Given the description of an element on the screen output the (x, y) to click on. 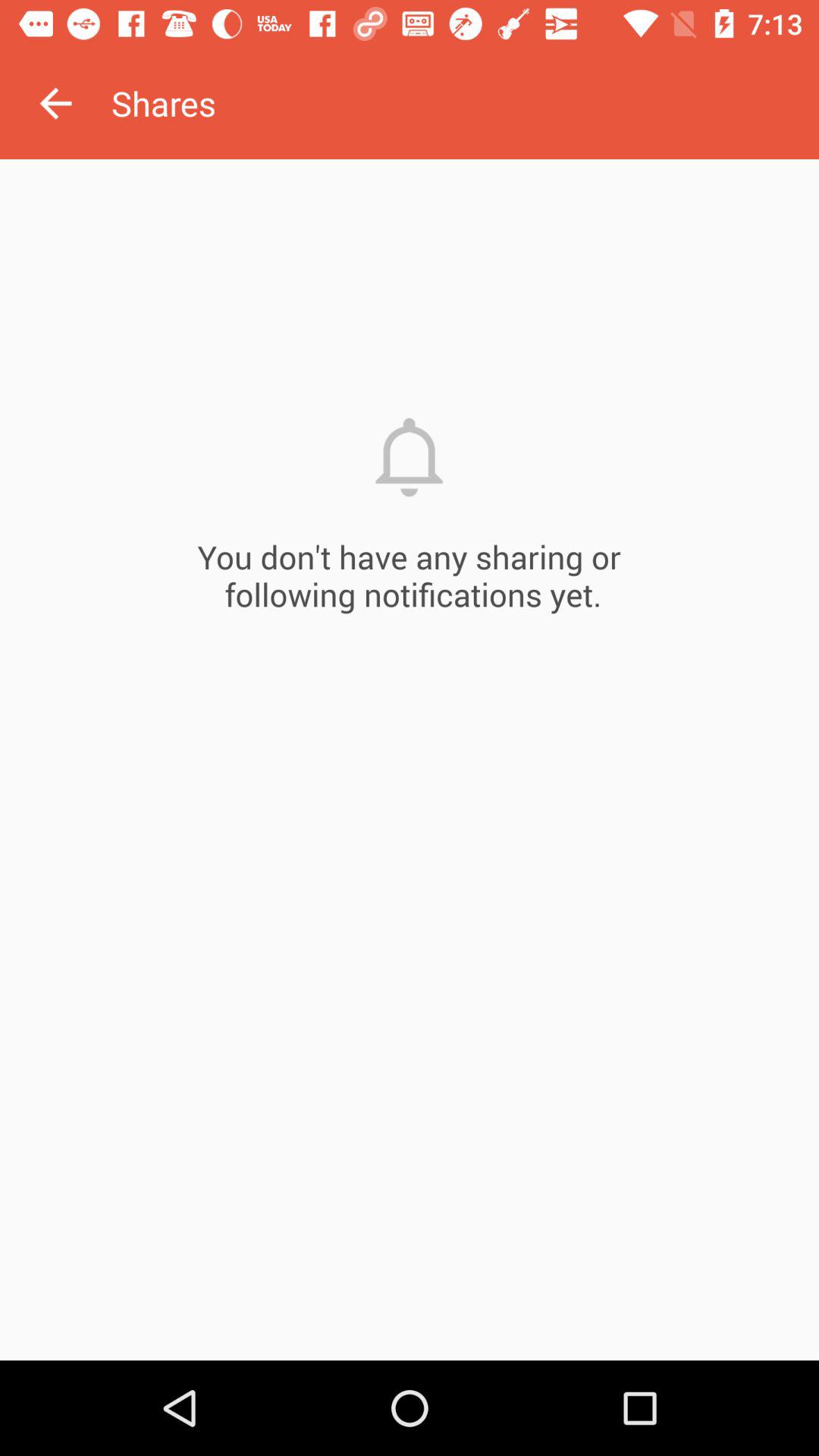
open the item next to the shares icon (55, 103)
